Given the description of an element on the screen output the (x, y) to click on. 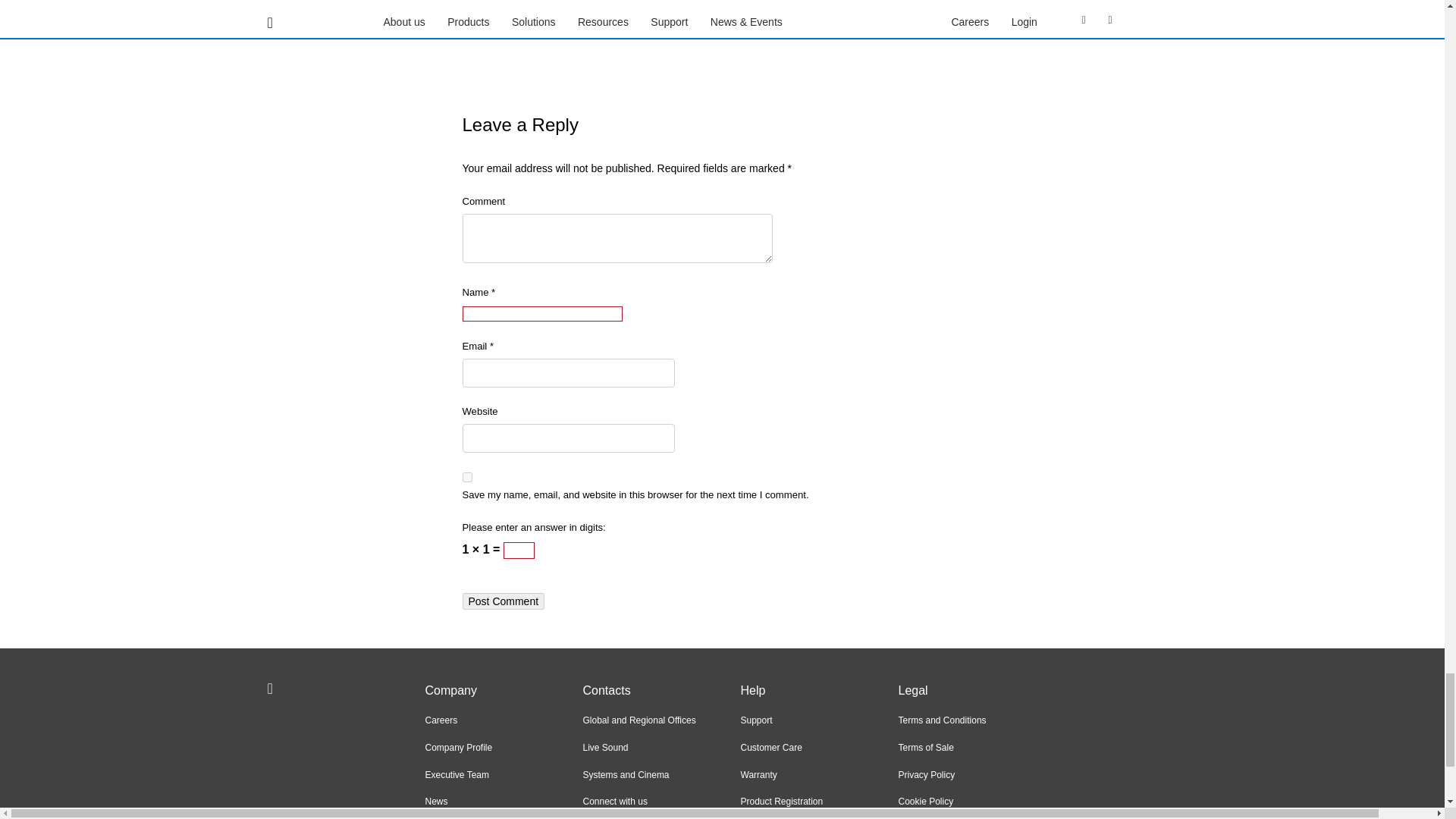
Post Comment (503, 600)
yes (467, 477)
